Given the description of an element on the screen output the (x, y) to click on. 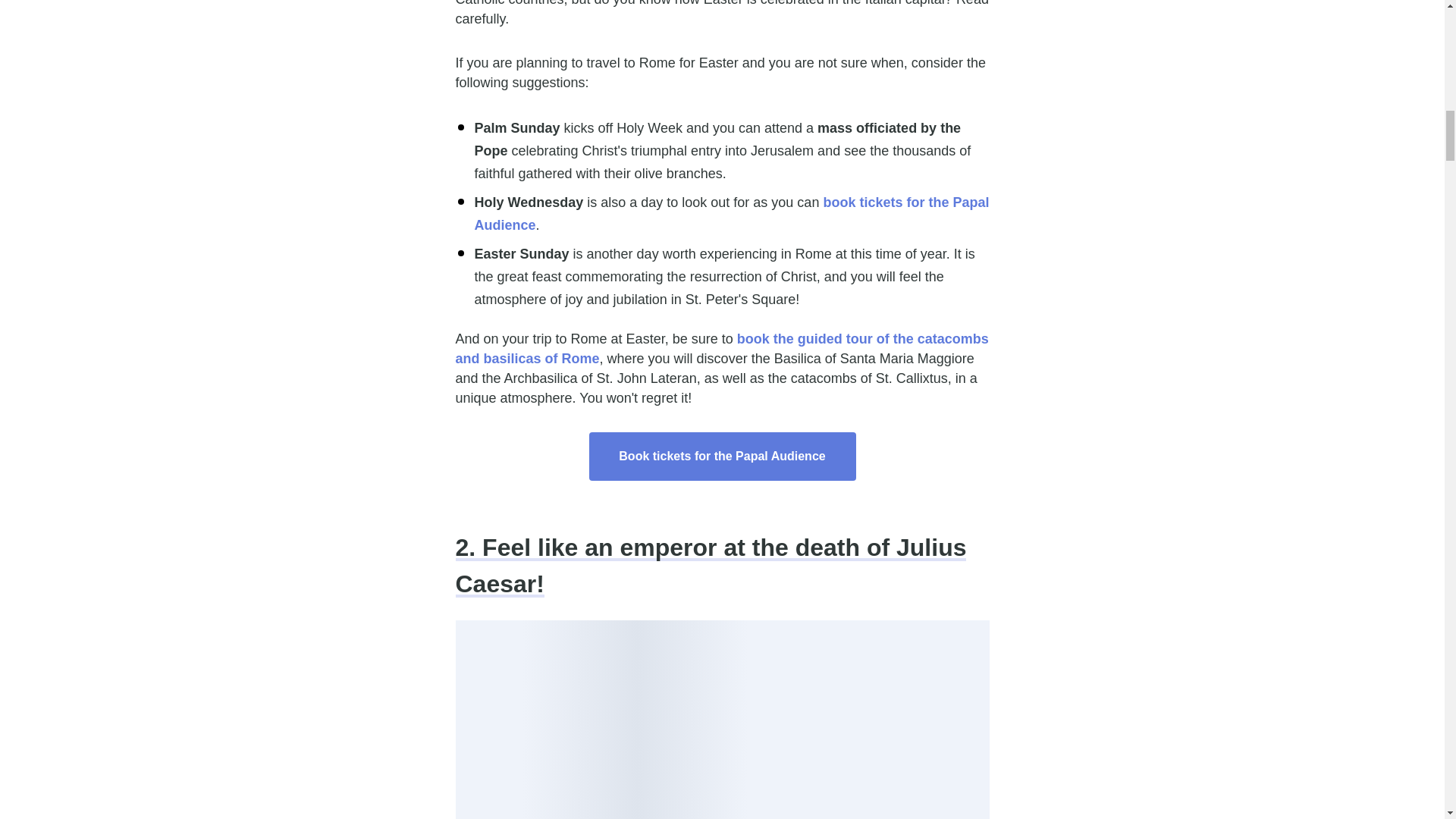
Book tickets for the Papal Audience (722, 456)
book tickets for the Papal Audience (732, 213)
book the guided tour of the catacombs and basilicas of Rome (721, 348)
